Given the description of an element on the screen output the (x, y) to click on. 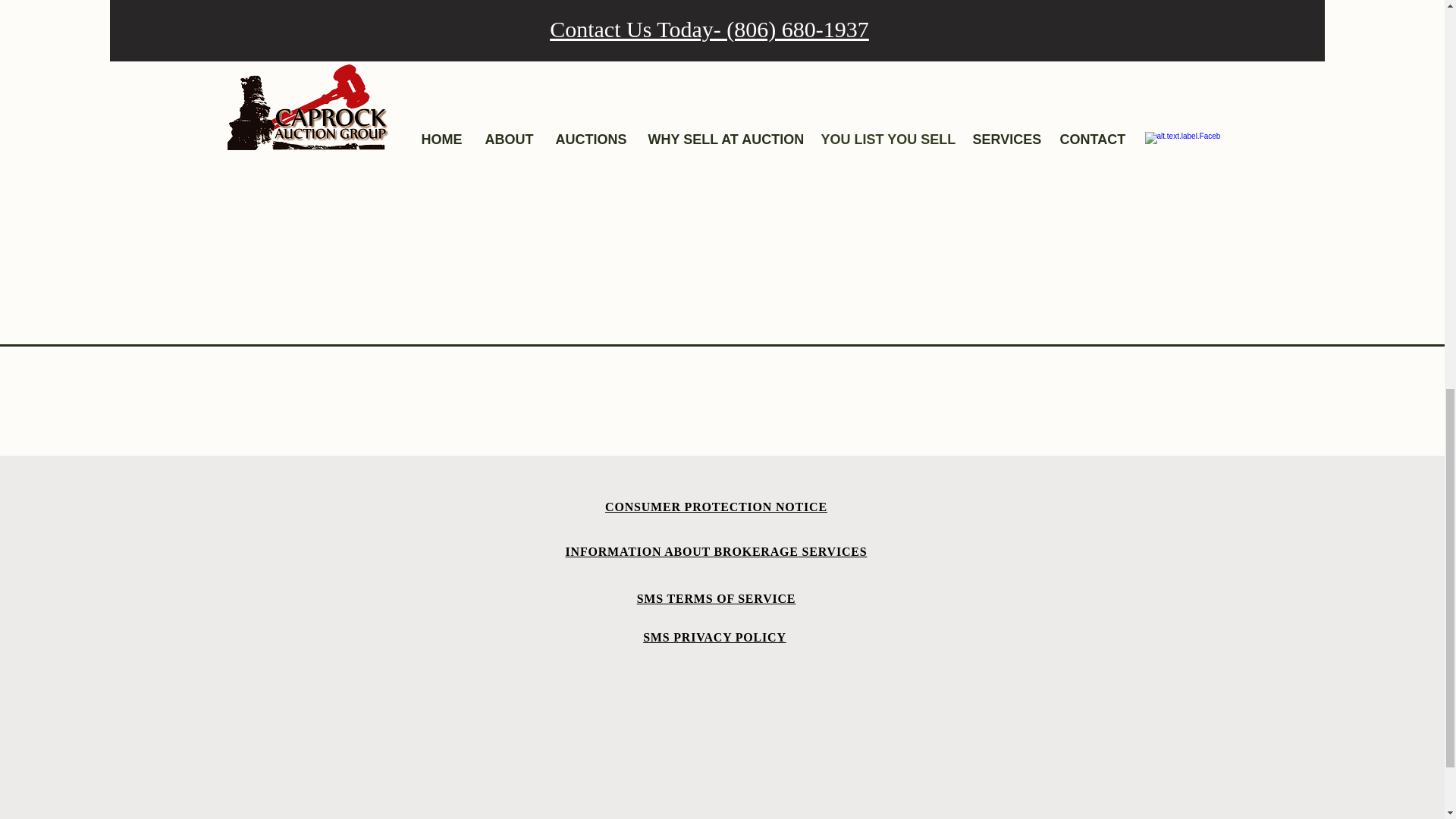
SMS PRIVACY POLICY (714, 636)
CONSUMER PROTECTION NOTICE (716, 507)
SMS TERMS OF SERVICE (716, 598)
INFORMATION ABOUT BROKERAGE SERVICES (716, 552)
